Given the description of an element on the screen output the (x, y) to click on. 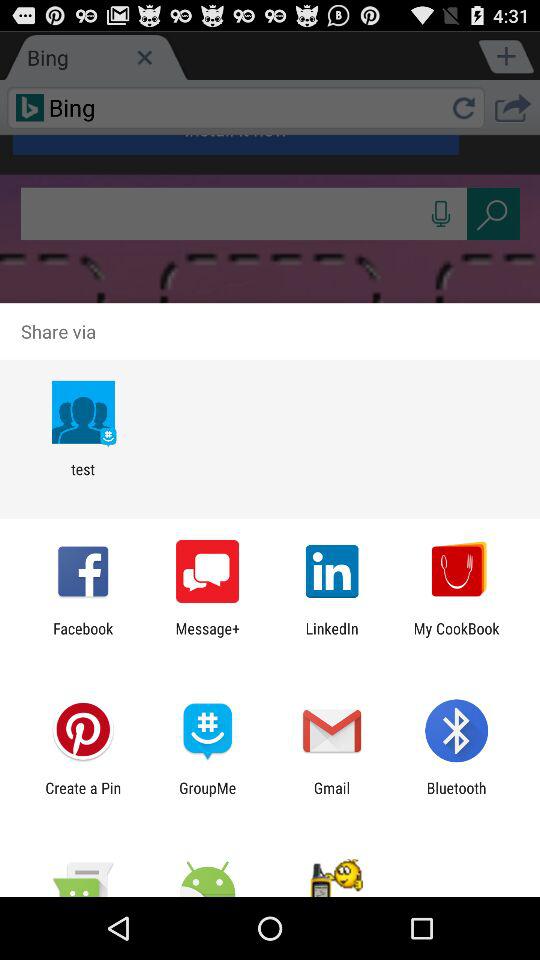
turn on item to the left of the groupme (83, 796)
